Given the description of an element on the screen output the (x, y) to click on. 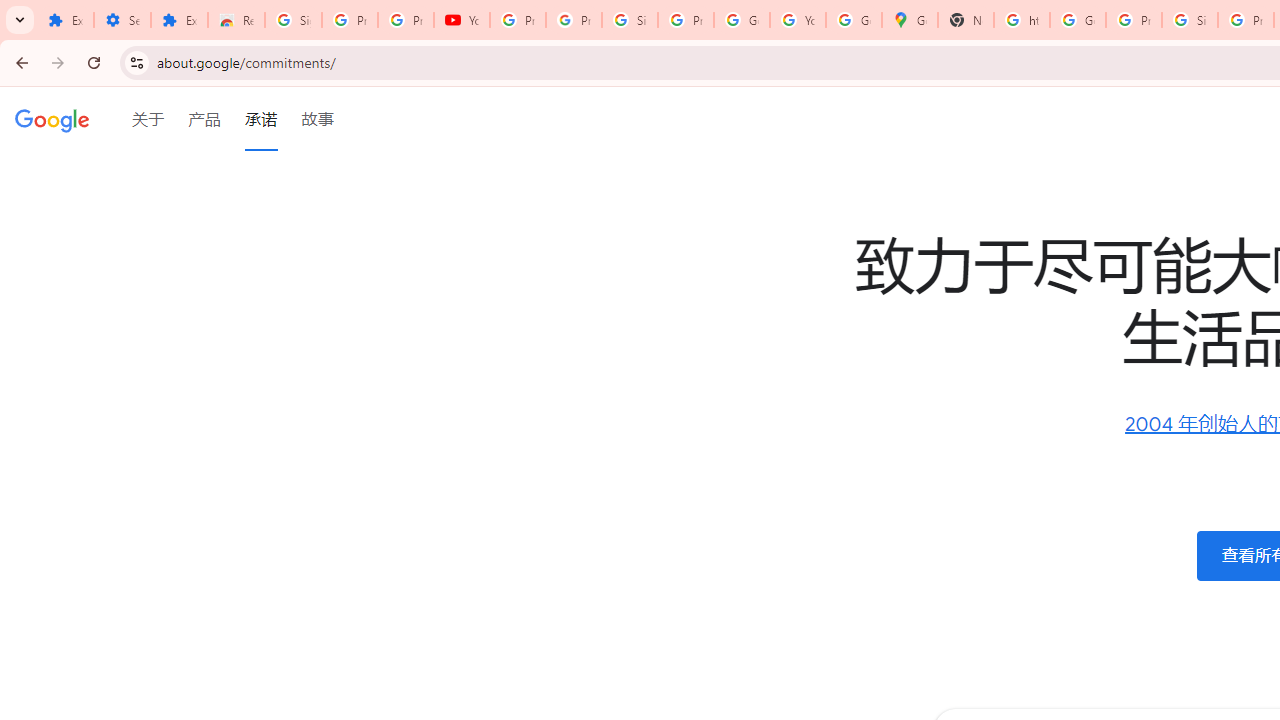
Sign in - Google Accounts (1190, 20)
Google Account (742, 20)
Extensions (65, 20)
Sign in - Google Accounts (629, 20)
Extensions (179, 20)
Reviews: Helix Fruit Jump Arcade Game (235, 20)
